Given the description of an element on the screen output the (x, y) to click on. 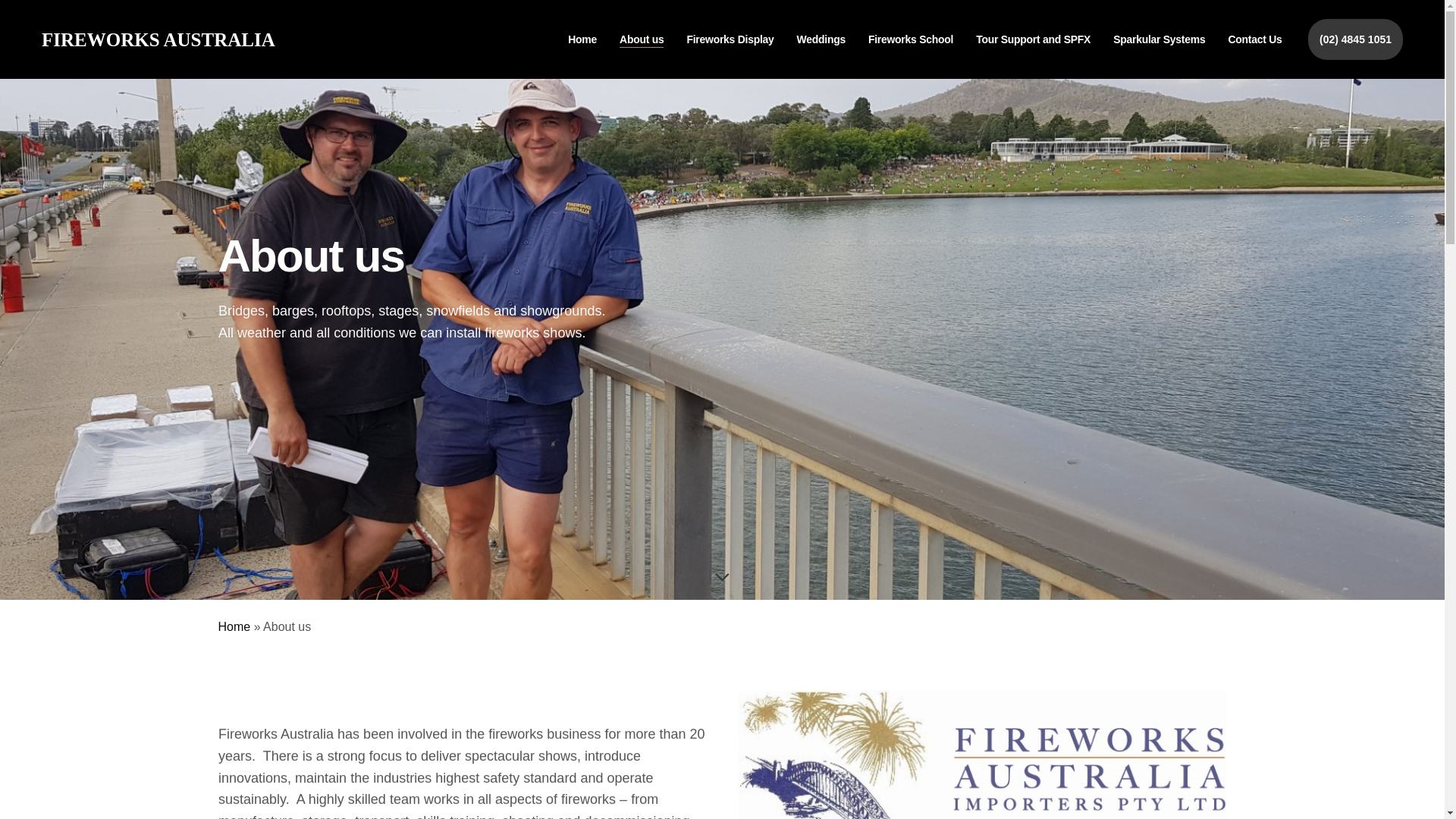
(02) 4845 1051 Element type: text (1355, 39)
Tour Support and SPFX Element type: text (1032, 38)
Weddings Element type: text (821, 38)
Home Element type: text (234, 626)
Home Element type: text (581, 38)
About us Element type: text (641, 38)
FIREWORKS AUSTRALIA Element type: text (158, 38)
Fireworks Display Element type: text (729, 38)
Sparkular Systems Element type: text (1158, 38)
Contact Us Element type: text (1254, 38)
Fireworks School Element type: text (910, 38)
